Given the description of an element on the screen output the (x, y) to click on. 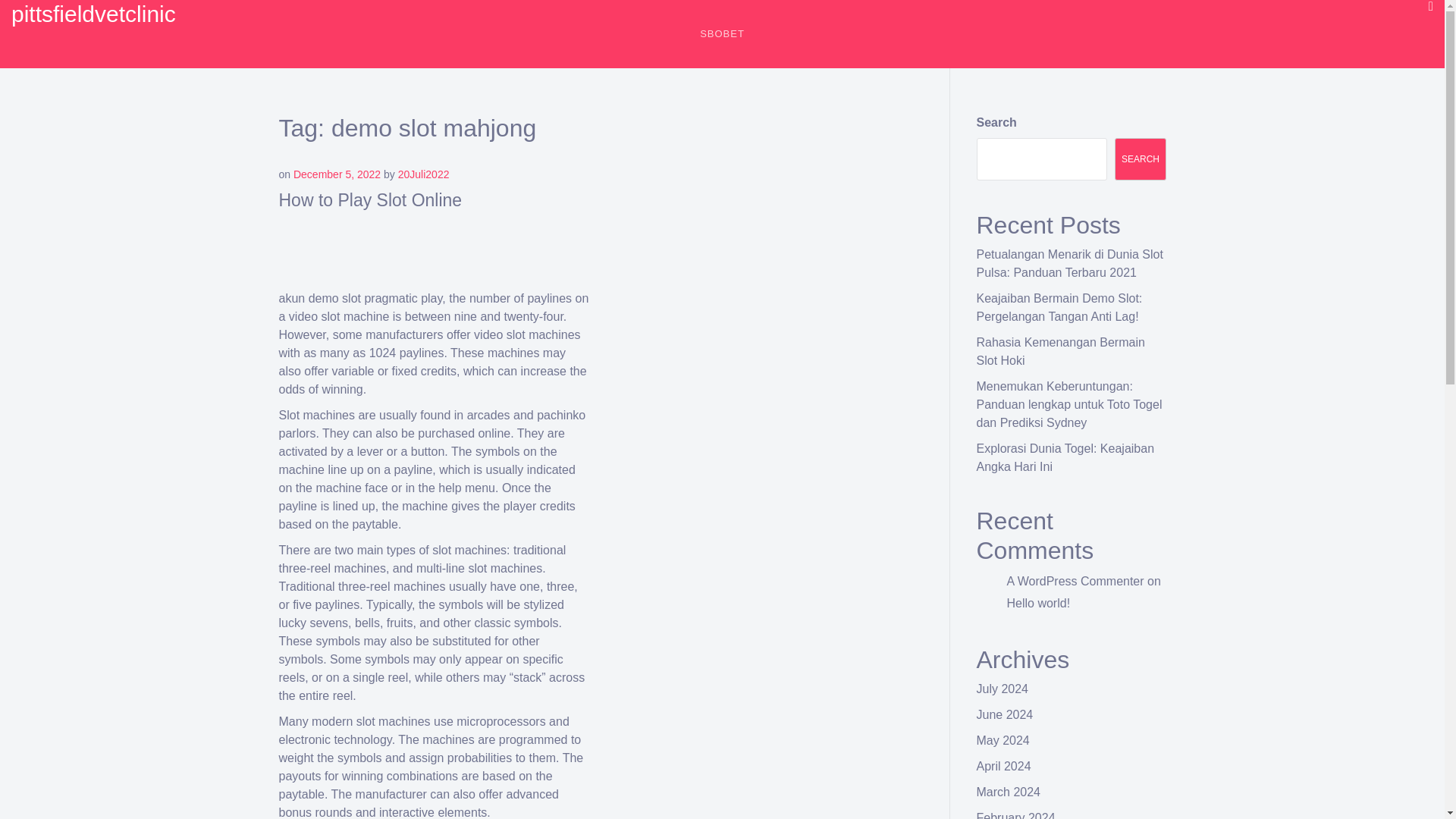
SEARCH (1140, 159)
March 2024 (1008, 791)
Explorasi Dunia Togel: Keajaiban Angka Hari Ini (1065, 457)
SBOBET (1430, 6)
How to Play Slot Online (371, 199)
December 5, 2022 (337, 174)
A WordPress Commenter (1075, 581)
Rahasia Kemenangan Bermain Slot Hoki (1060, 350)
February 2024 (1015, 815)
April 2024 (1003, 766)
May 2024 (1002, 739)
pittsfieldvetclinic (93, 13)
20Juli2022 (423, 174)
June 2024 (1004, 714)
